Given the description of an element on the screen output the (x, y) to click on. 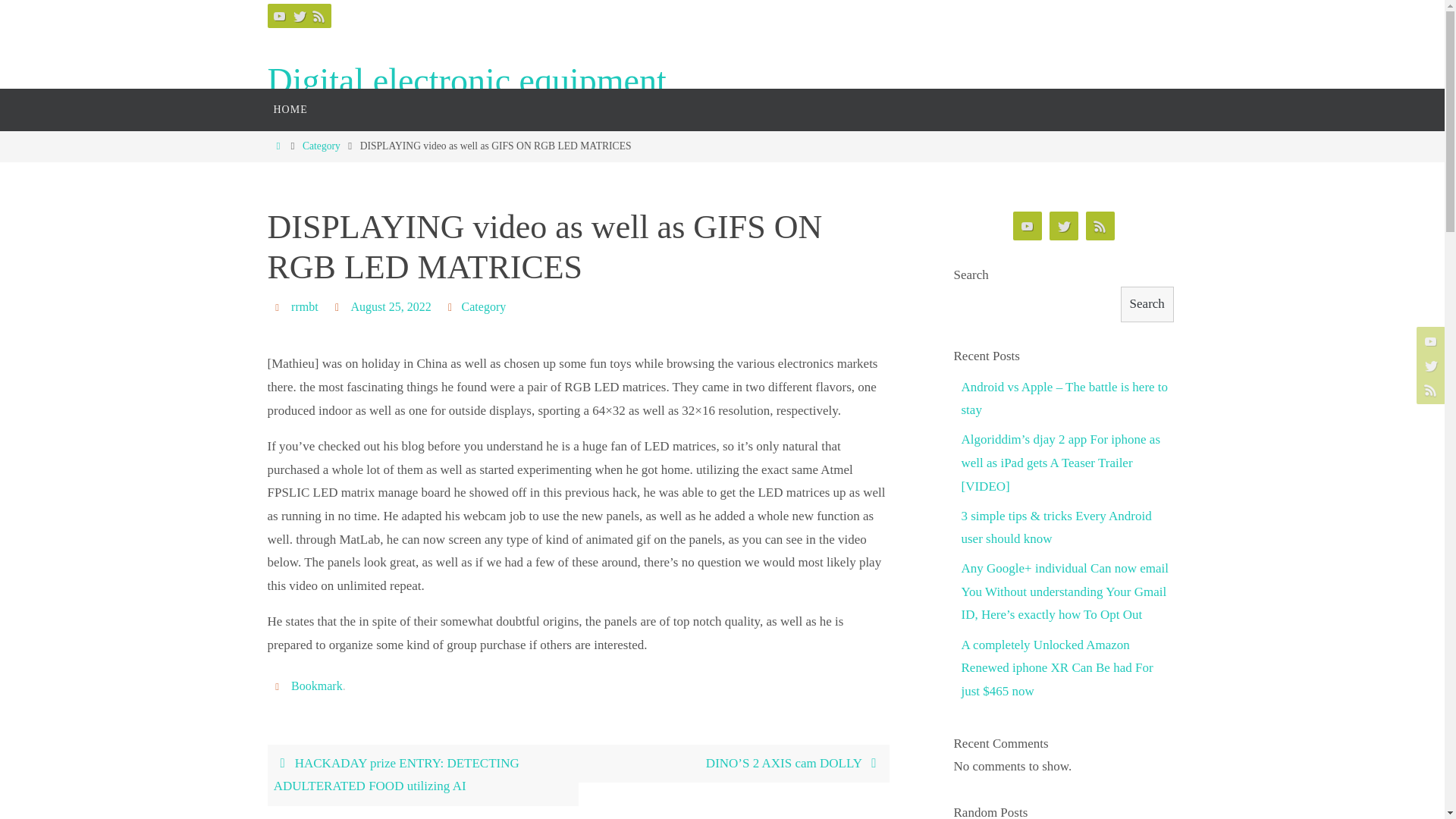
 Bookmark the permalink (278, 685)
Home (277, 145)
Category (483, 306)
Twitter (298, 15)
rrmbt (304, 306)
Categories (451, 306)
View all posts by rrmbt (304, 306)
Digital electronic equipment (465, 81)
Author  (278, 306)
Digital electronic equipment (465, 81)
HOME (289, 109)
Search (1147, 304)
Date (339, 306)
Category (321, 145)
RSS (317, 15)
